Given the description of an element on the screen output the (x, y) to click on. 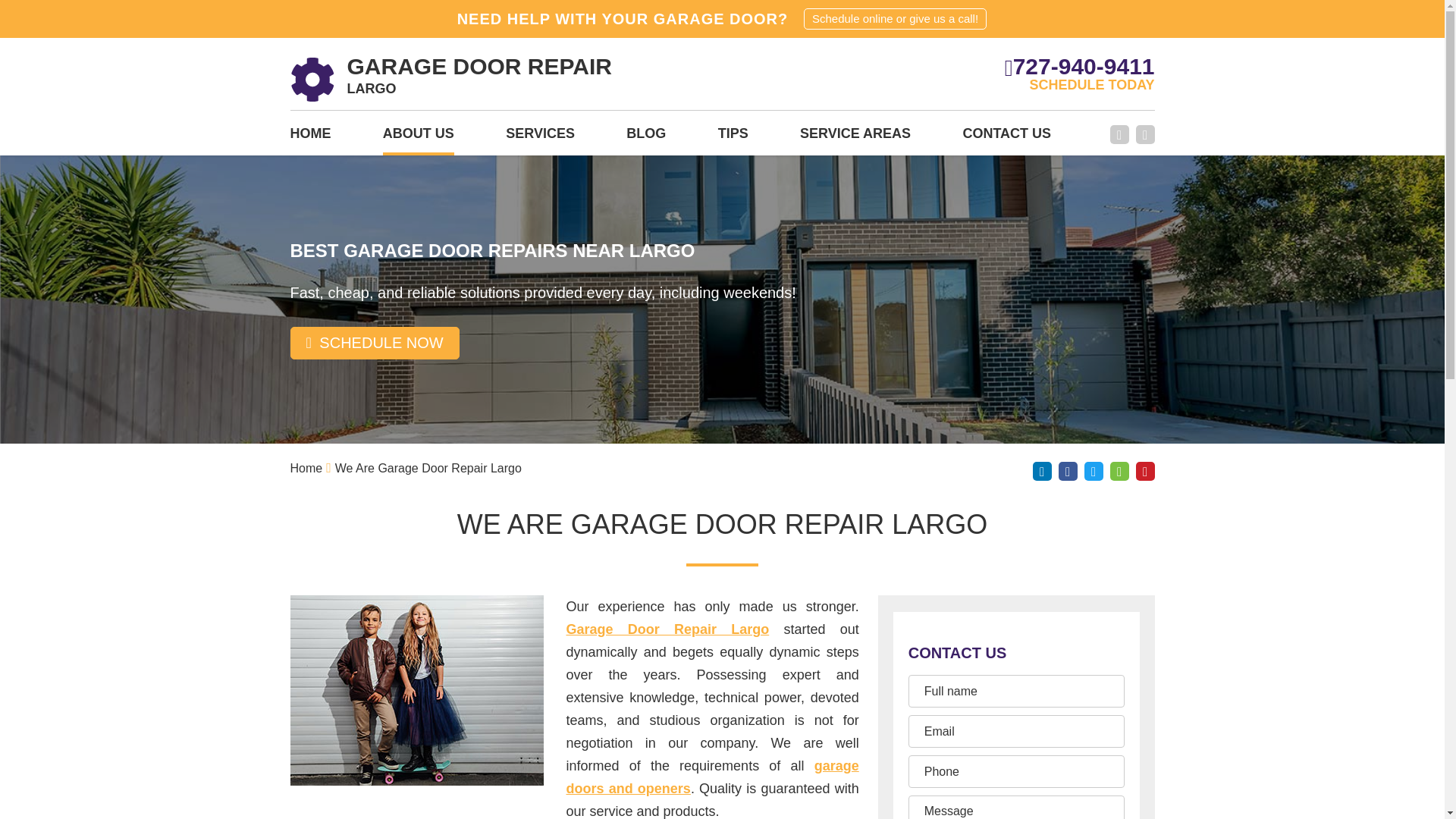
Linkedin (1041, 470)
Home (305, 468)
TIPS (732, 138)
Click here to enter Home page (305, 468)
ABOUT US (418, 138)
Facebook (1119, 134)
Schedule online or give us a call! (895, 18)
Garage Door Repair Largo (667, 629)
Garage Door Repair Largo (311, 79)
SERVICE AREAS (855, 138)
